Given the description of an element on the screen output the (x, y) to click on. 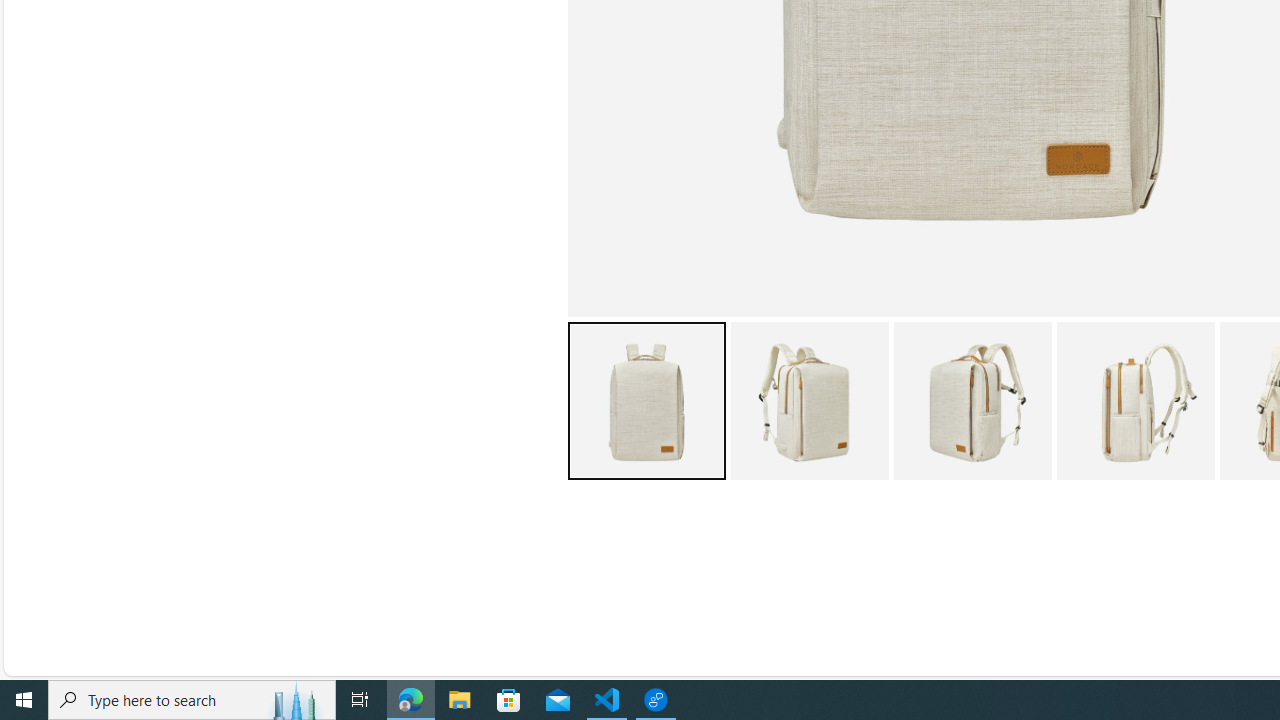
Nordace Siena Pro 15 Backpack (1135, 400)
